Given the description of an element on the screen output the (x, y) to click on. 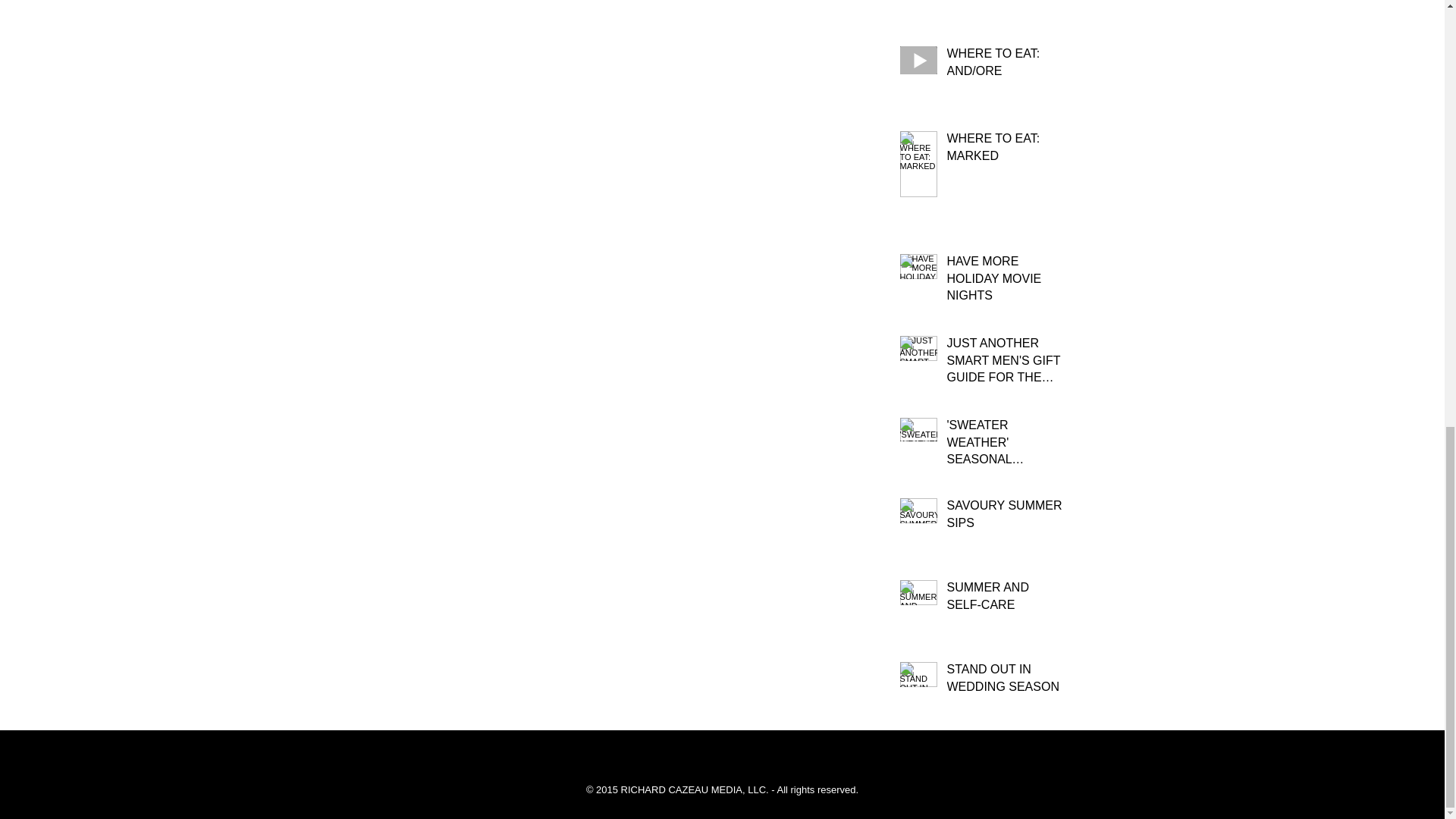
HAVE MORE HOLIDAY MOVIE NIGHTS (1004, 281)
WHERE TO EAT: MARKED (1004, 150)
'SWEATER WEATHER' SEASONAL FAVOURITES (1004, 445)
SUMMER AND SELF-CARE (1004, 599)
SAVOURY SUMMER SIPS (1004, 517)
JUST ANOTHER SMART MEN'S GIFT GUIDE FOR THE HOLIDAYS (1004, 363)
STAND OUT IN WEDDING SEASON (1004, 680)
